Given the description of an element on the screen output the (x, y) to click on. 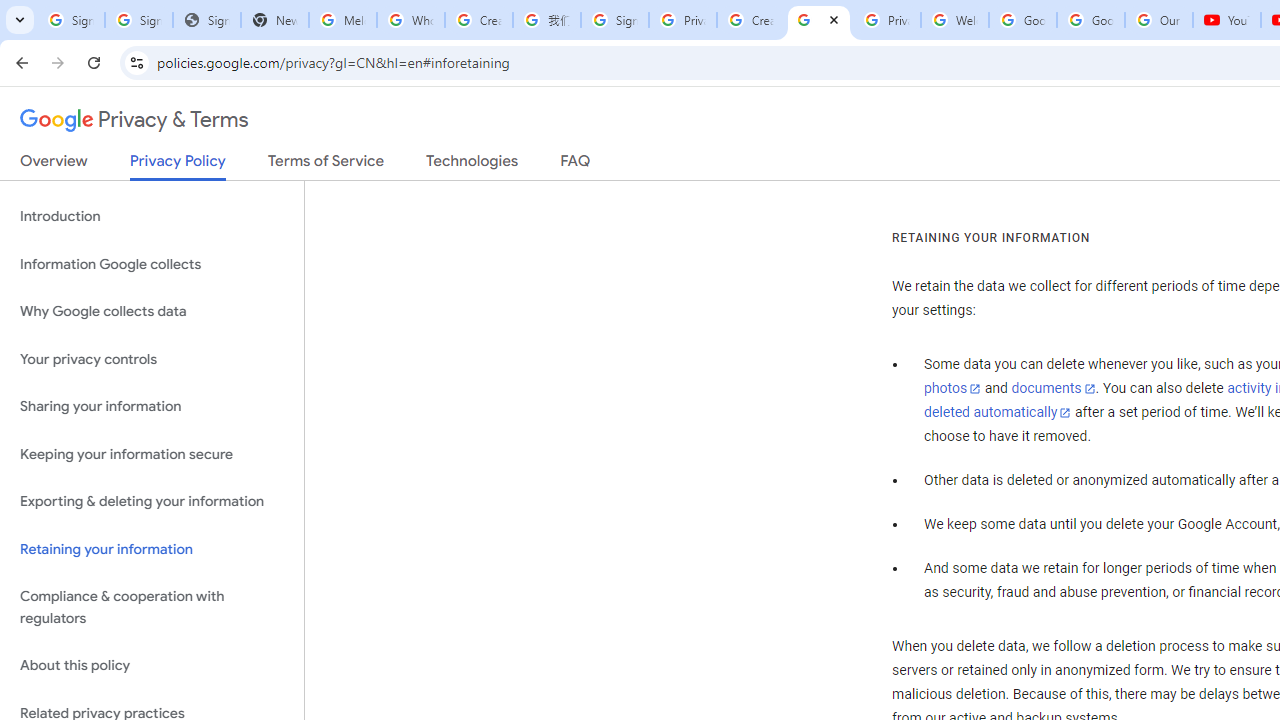
Why Google collects data (152, 312)
documents (1053, 389)
Exporting & deleting your information (152, 502)
New Tab (274, 20)
FAQ (575, 165)
Terms of Service (326, 165)
Google Account (1091, 20)
Sign In - USA TODAY (206, 20)
Compliance & cooperation with regulators (152, 607)
About this policy (152, 666)
